Given the description of an element on the screen output the (x, y) to click on. 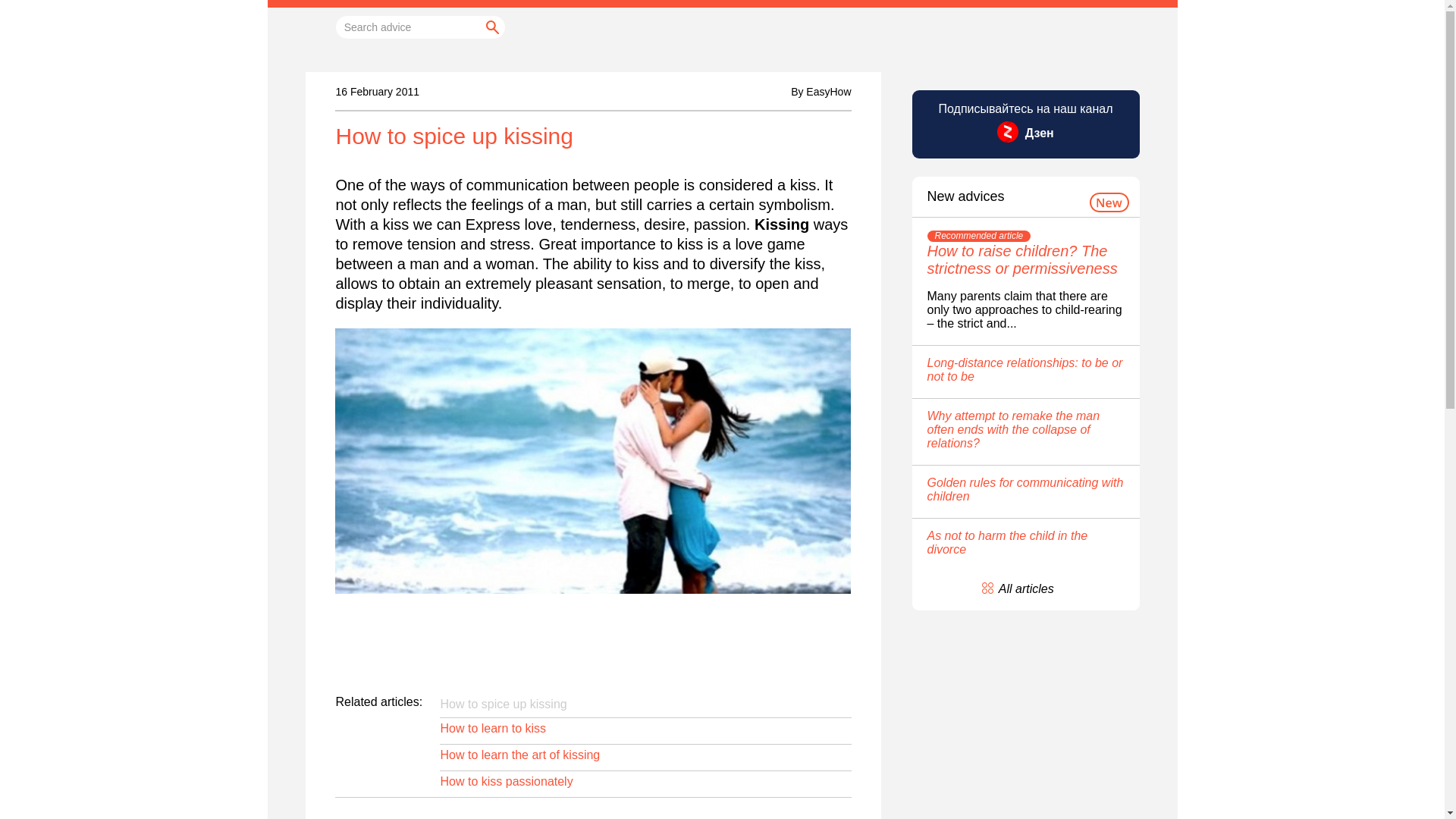
How to learn the art of kissing (519, 755)
How to kiss passionately (505, 781)
How to learn to kiss (492, 728)
